Given the description of an element on the screen output the (x, y) to click on. 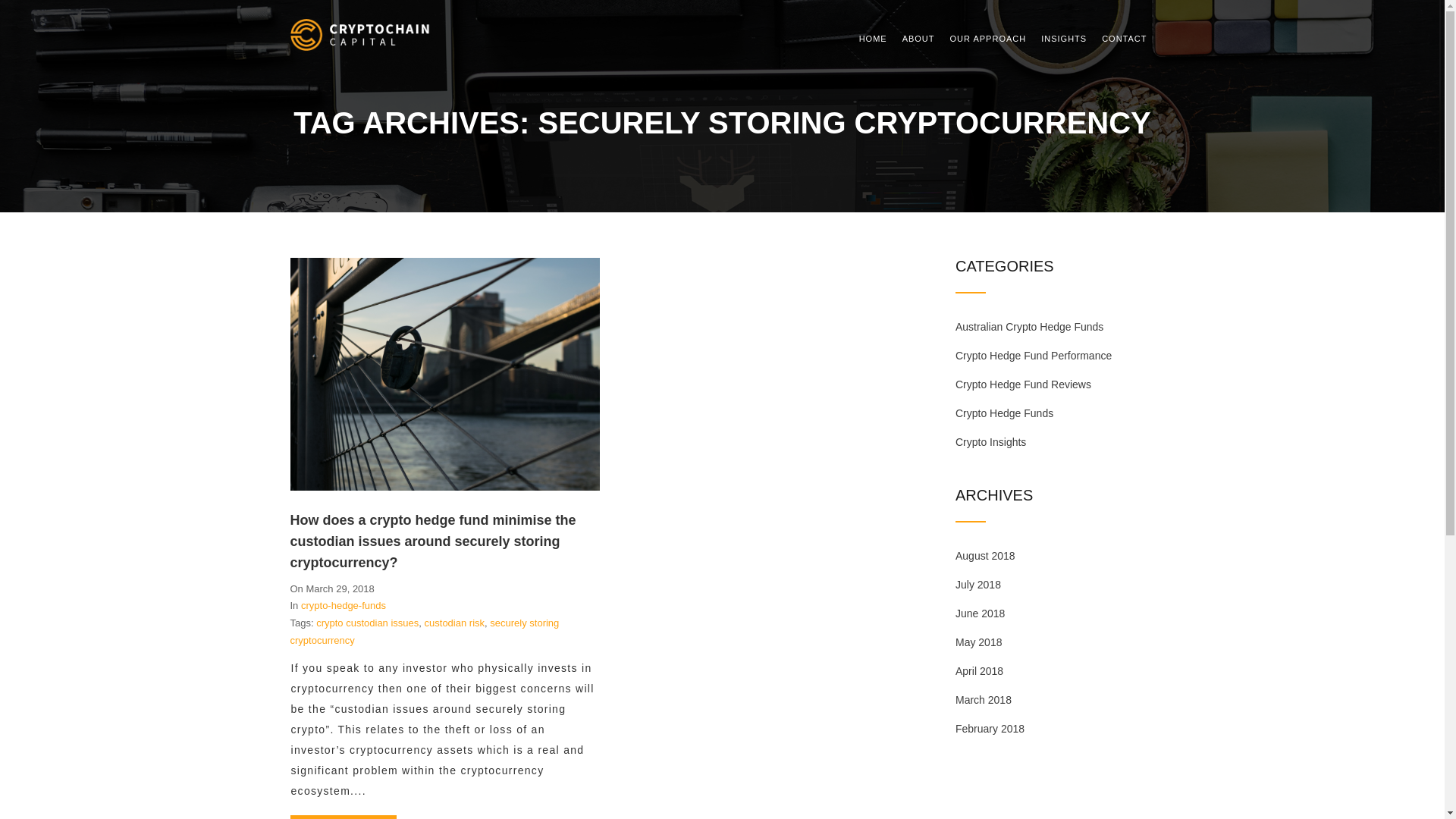
Crypto Hedge Funds Element type: text (1004, 412)
Crypto Hedge Fund Reviews Element type: text (1023, 384)
July 2018 Element type: text (978, 584)
Crypto Insights Element type: text (990, 441)
crypto custodian issues Element type: text (367, 622)
March 2018 Element type: text (983, 699)
securely storing cryptocurrency Element type: text (423, 631)
OUR APPROACH Element type: text (988, 38)
HOME Element type: text (872, 38)
Crypto Hedge Fund Performance Element type: text (1033, 355)
ABOUT Element type: text (918, 38)
Australian Crypto Hedge Funds Element type: text (1029, 326)
INSIGHTS Element type: text (1063, 38)
June 2018 Element type: text (979, 613)
August 2018 Element type: text (985, 555)
CONTACT Element type: text (1124, 38)
custodian risk Element type: text (454, 622)
February 2018 Element type: text (989, 728)
May 2018 Element type: text (978, 641)
crypto-hedge-funds Element type: text (343, 605)
April 2018 Element type: text (979, 670)
